Given the description of an element on the screen output the (x, y) to click on. 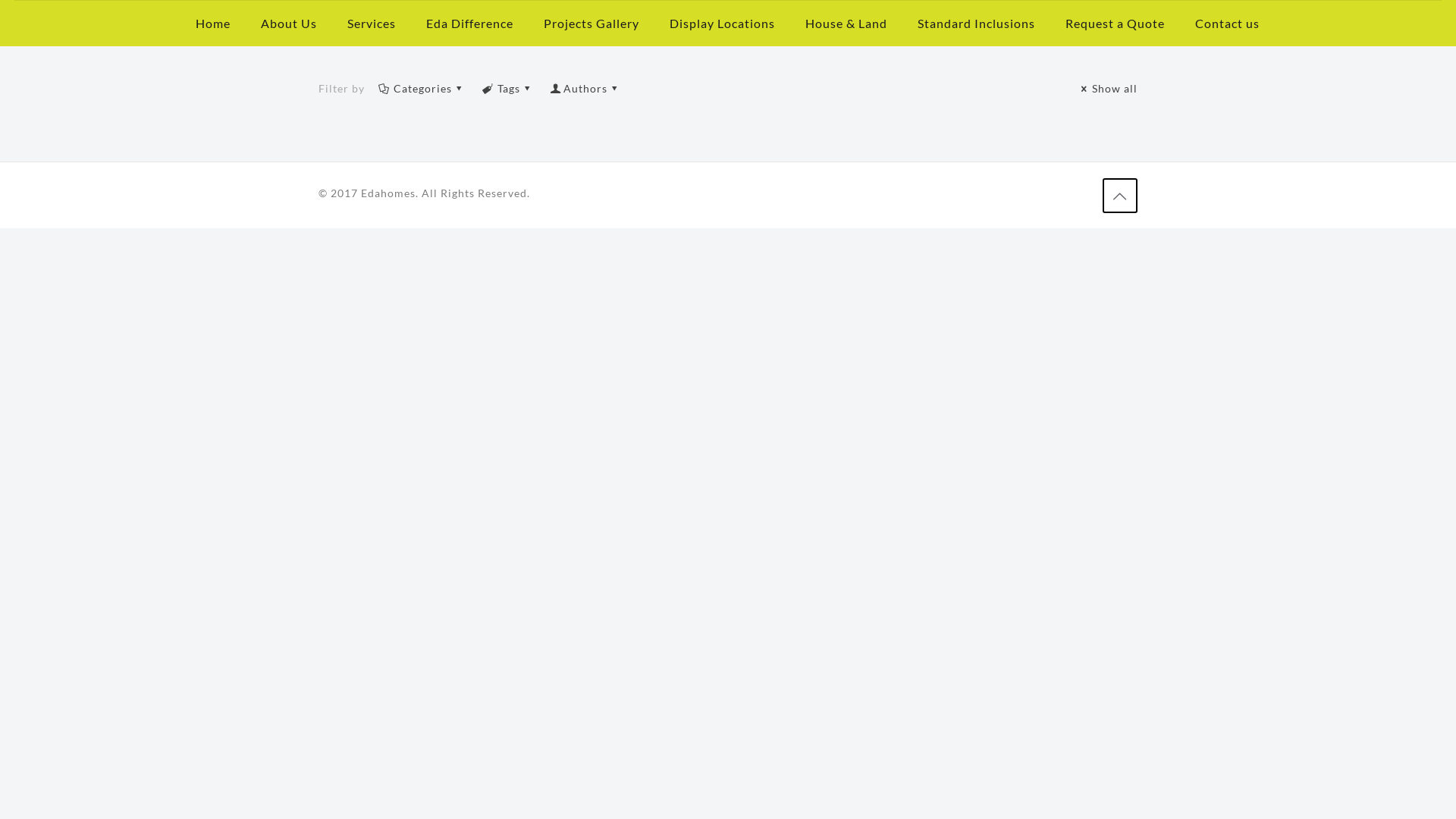
Show all Element type: text (1106, 87)
House & Land Element type: text (846, 23)
Projects Gallery Element type: text (591, 23)
Eda Difference Element type: text (469, 23)
Contact us Element type: text (1226, 23)
Authors Element type: text (584, 87)
Request a Quote Element type: text (1114, 23)
About Us Element type: text (288, 23)
Home Element type: text (212, 23)
Standard Inclusions Element type: text (976, 23)
Tags Element type: text (508, 87)
Services Element type: text (371, 23)
Display Locations Element type: text (722, 23)
Categories Element type: text (422, 87)
